Given the description of an element on the screen output the (x, y) to click on. 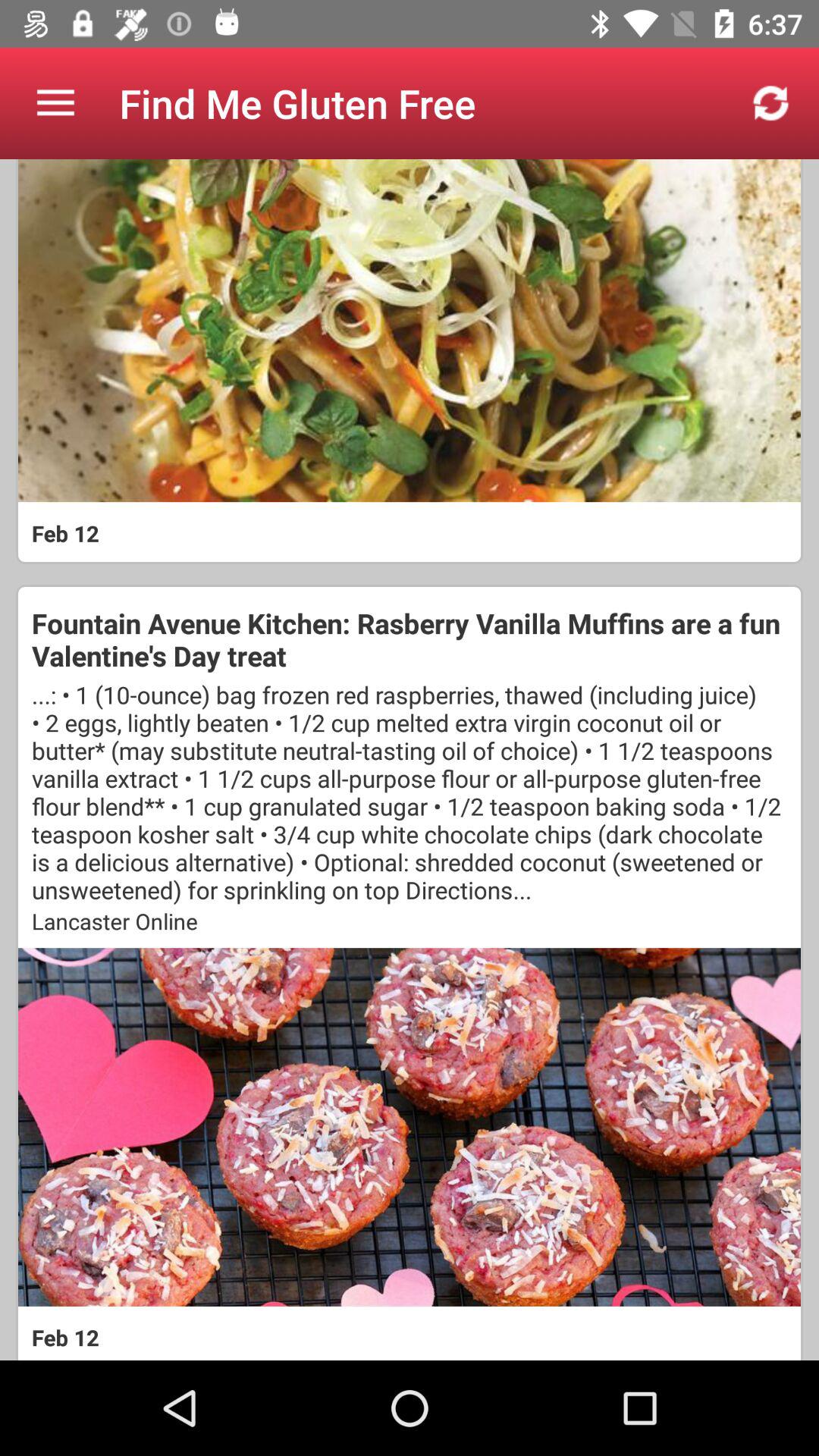
select the app to the right of the find me gluten (771, 103)
